Given the description of an element on the screen output the (x, y) to click on. 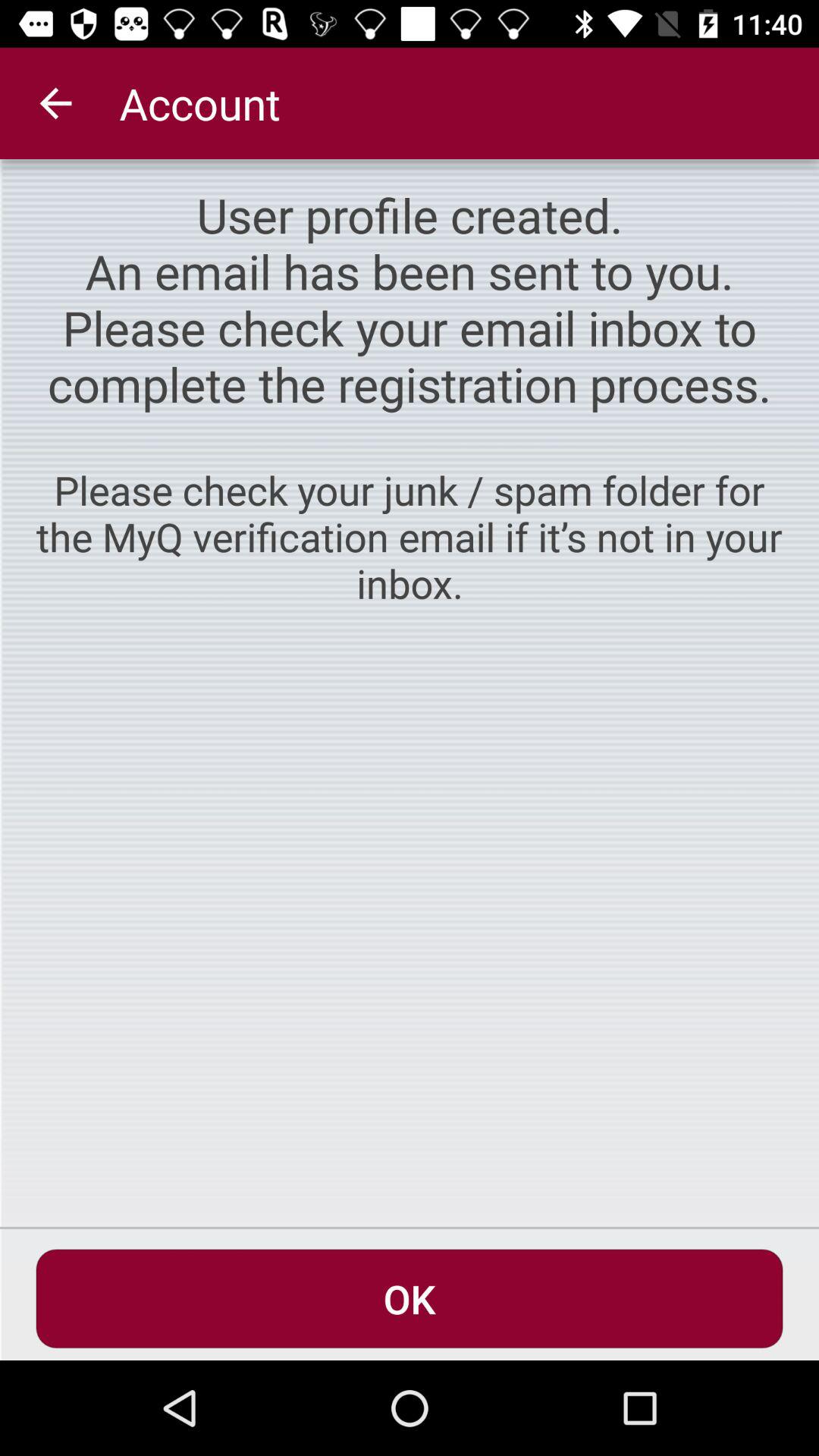
scroll until the ok icon (409, 1298)
